Given the description of an element on the screen output the (x, y) to click on. 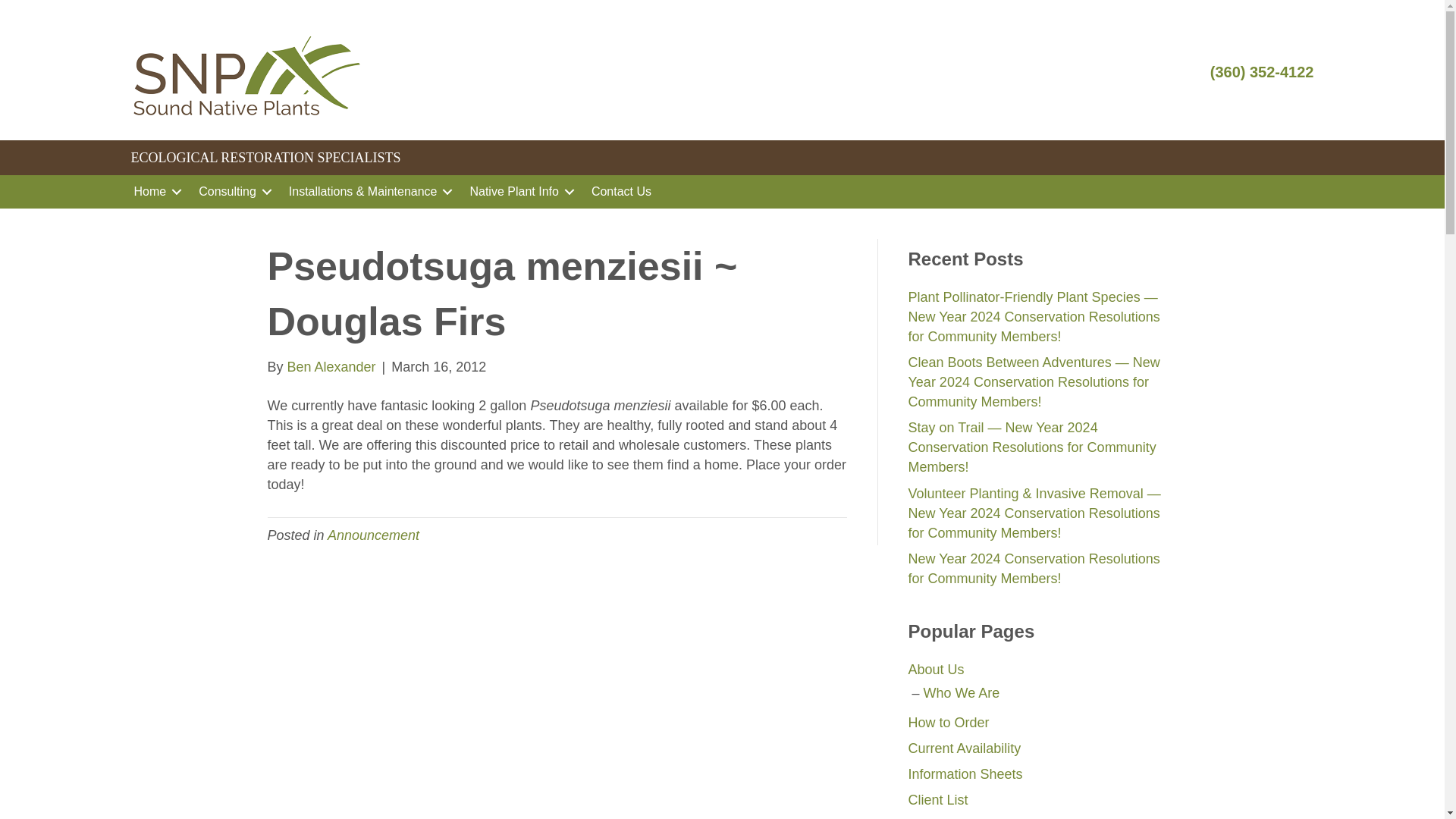
Sound Native Plants Home Page (154, 191)
Ben Alexander (330, 366)
Consulting (232, 191)
Contact Us (621, 191)
Announcement (373, 534)
Native Plant Info (518, 191)
Home (154, 191)
